Given the description of an element on the screen output the (x, y) to click on. 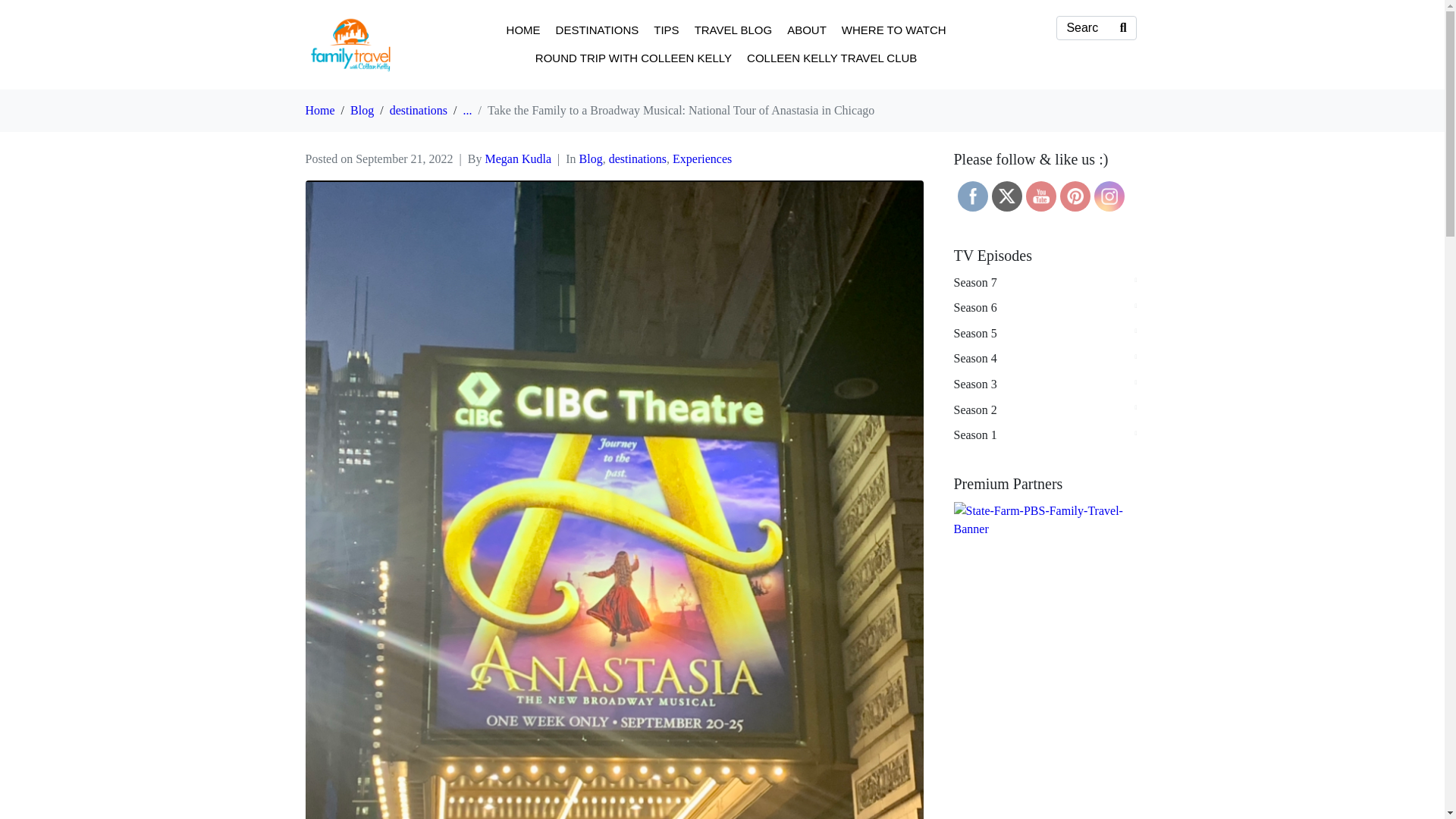
Instagram (1109, 196)
Twitter (1005, 196)
HOME (523, 29)
DESTINATIONS (597, 29)
Facebook (972, 196)
